Given the description of an element on the screen output the (x, y) to click on. 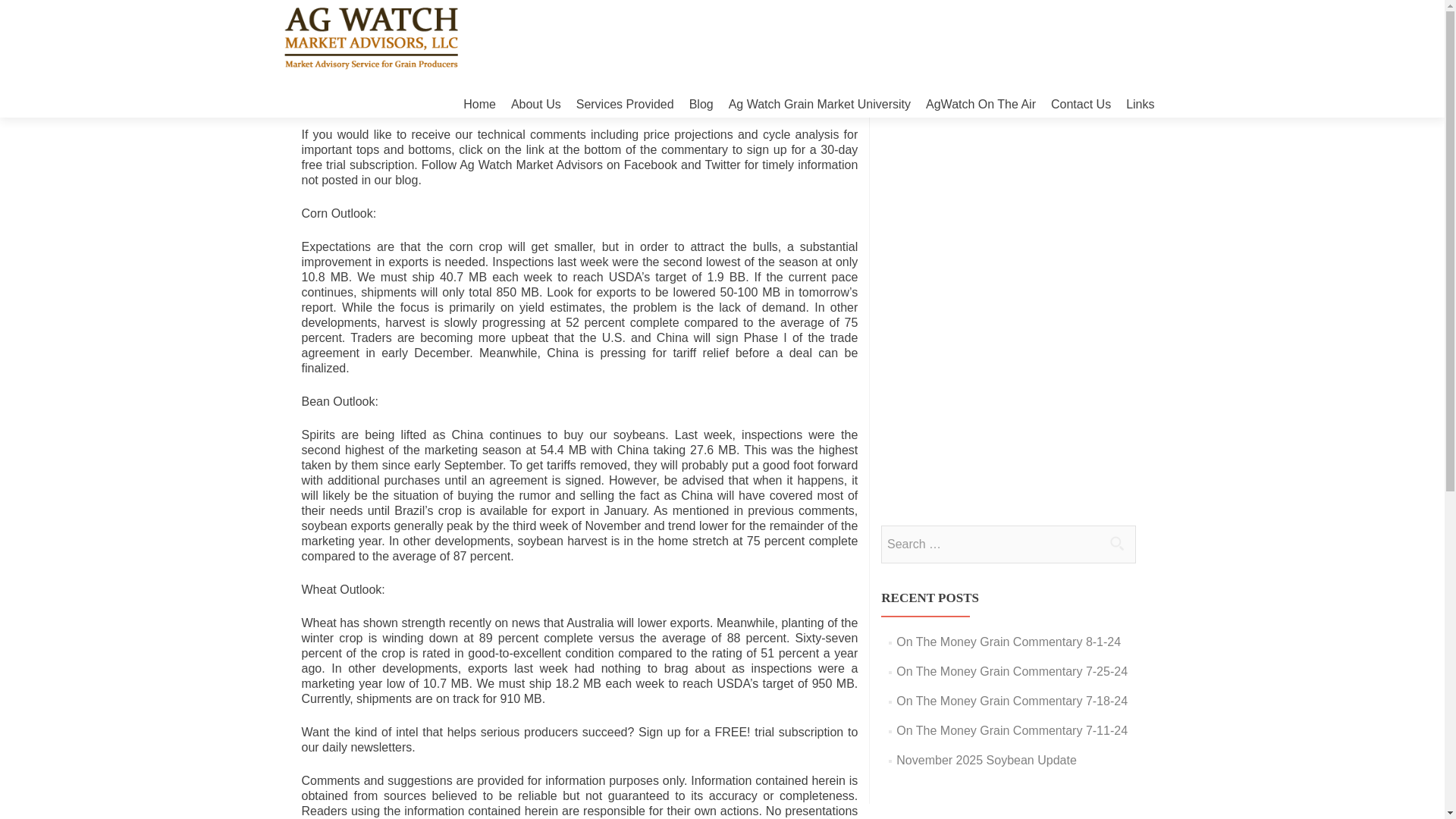
Search (1116, 542)
Services Provided (625, 103)
Search (1116, 542)
Links (1139, 103)
AgWatch On The Air (980, 103)
Dewey Strickler (520, 105)
Search (1116, 542)
Contact Us (1080, 103)
November 7, 2019 (409, 105)
Ag Watch Grain Market University (820, 103)
Home (479, 103)
Blog (700, 103)
About Us (535, 103)
